Given the description of an element on the screen output the (x, y) to click on. 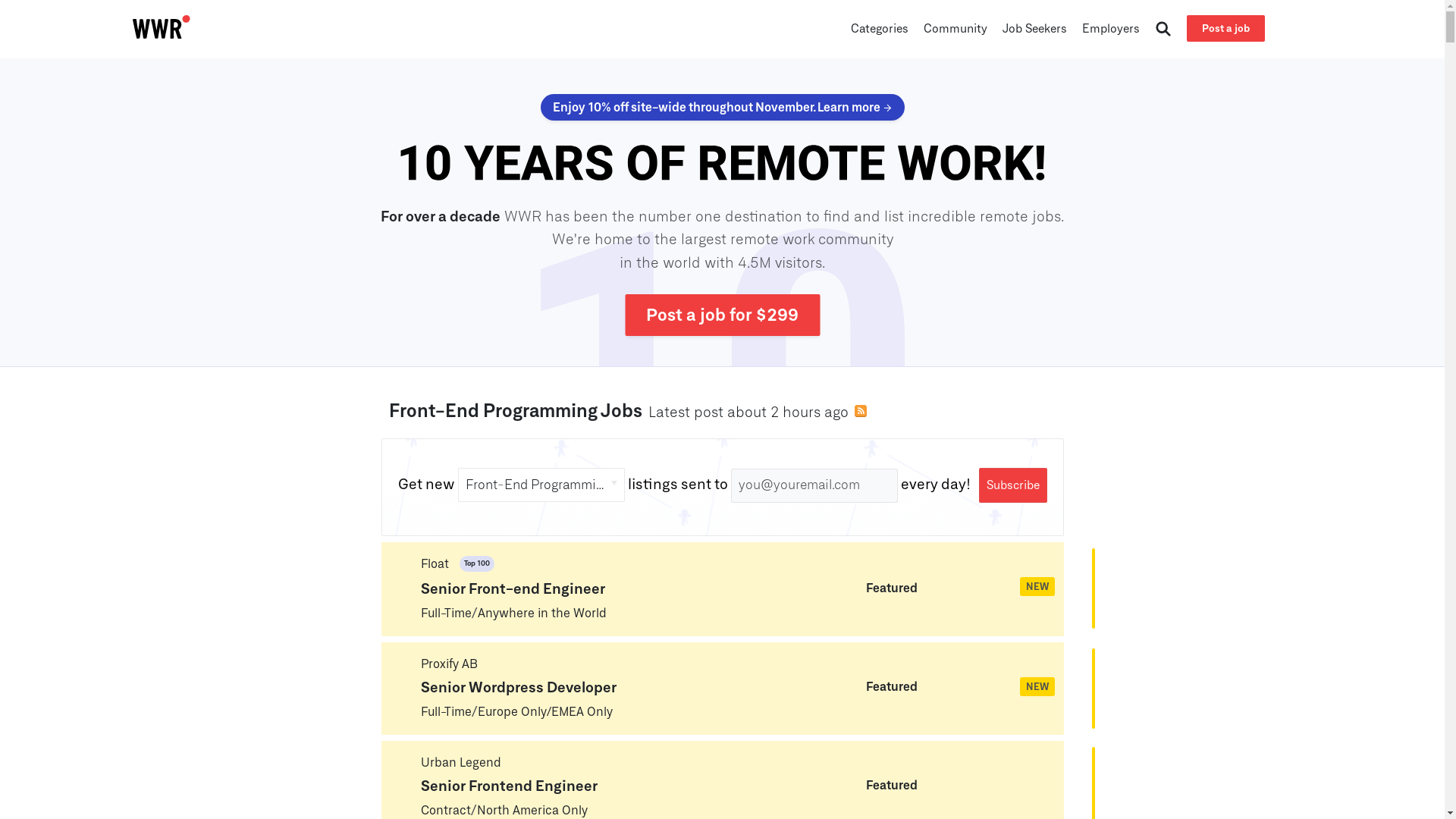
Post a job Element type: text (1225, 28)
We Work Remotely Element type: text (722, 162)
Community Element type: text (955, 31)
Front-End Programming Jobs Element type: text (514, 411)
Categories Element type: text (879, 31)
Subscribe Element type: text (1012, 484)
Front-End Programming Element type: text (541, 484)
Job Seekers Element type: text (1034, 31)
Post a job for $299 Element type: text (721, 314)
Top 100 Element type: text (468, 564)
Employers Element type: text (1110, 31)
